Given the description of an element on the screen output the (x, y) to click on. 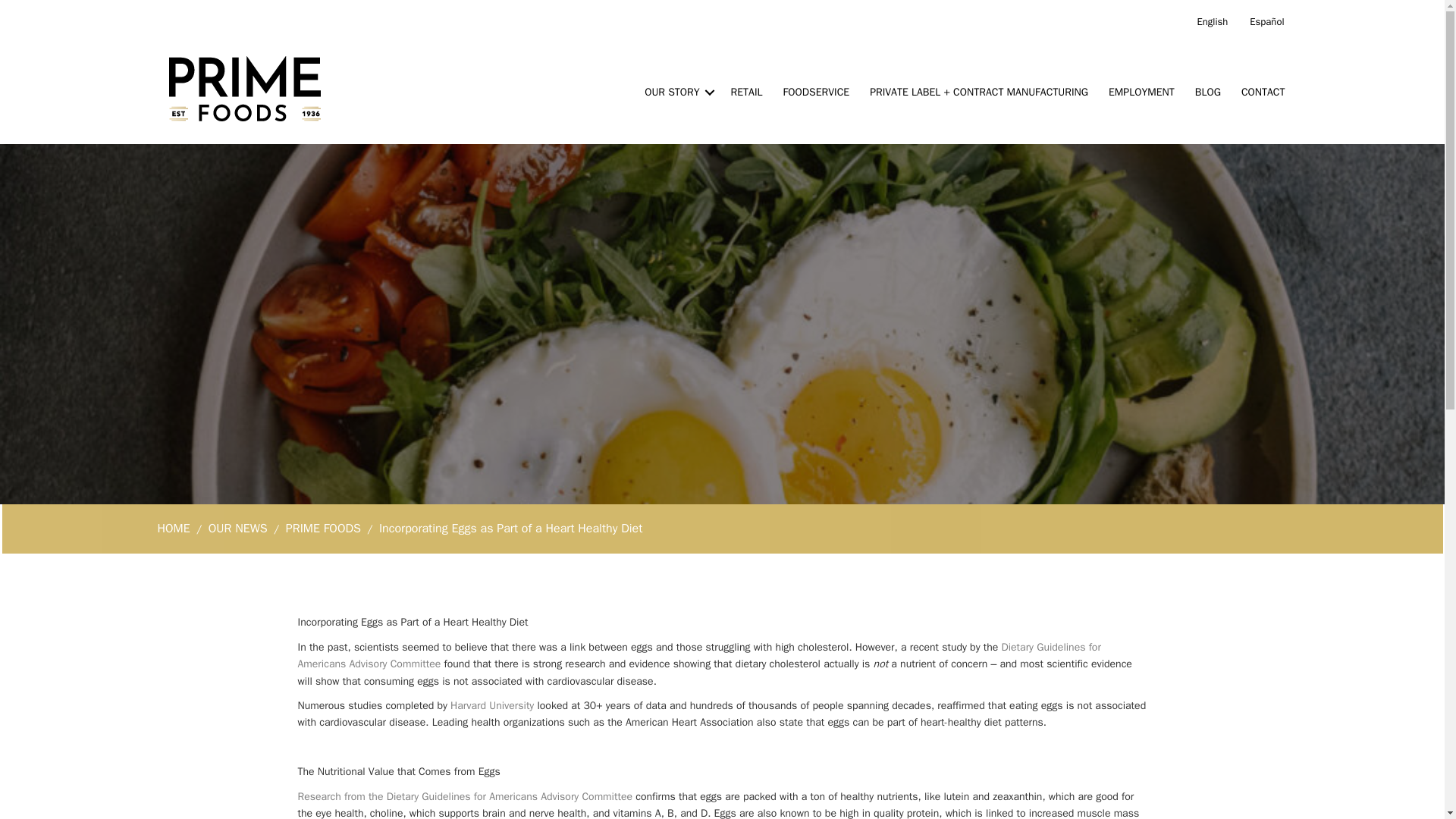
FOODSERVICE (816, 92)
HOME (173, 528)
Spanish (1266, 22)
Harvard University (491, 705)
Go to the PRIME FOODS category archives. (323, 528)
CONTACT (1263, 92)
Go to Incorporating Eggs as Part of a Heart Healthy Diet. (510, 528)
Go to OUR NEWS. (237, 528)
PRIME FOODS (323, 528)
OUR STORY (676, 92)
English (1212, 22)
BLOG (1207, 92)
Incorporating Eggs as Part of a Heart Healthy Diet (510, 528)
Dietary Guidelines for Americans Advisory Committee (698, 655)
